Given the description of an element on the screen output the (x, y) to click on. 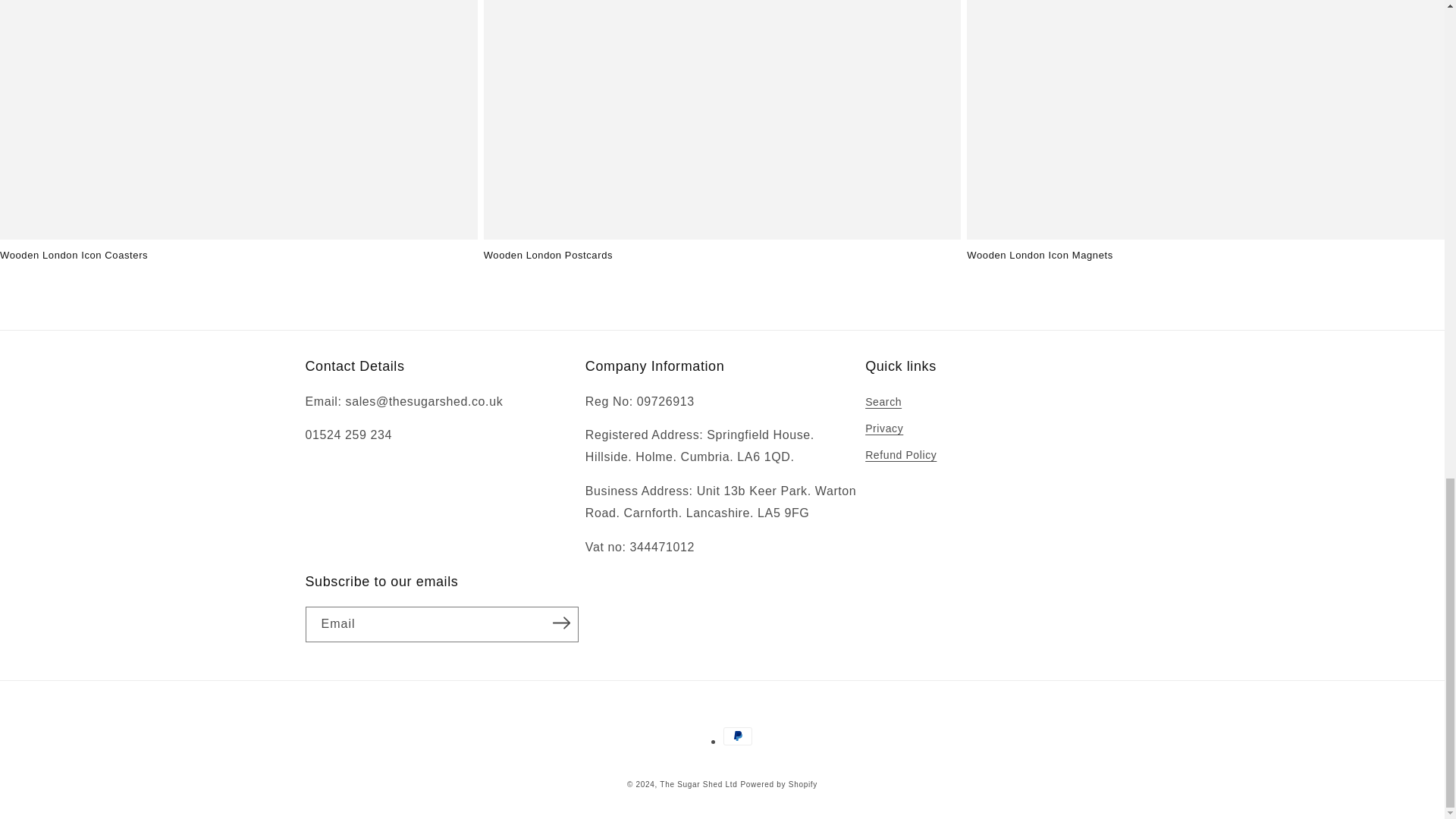
Wooden London Icon Coasters (238, 255)
Wooden London Postcards (721, 255)
PayPal (737, 736)
